Given the description of an element on the screen output the (x, y) to click on. 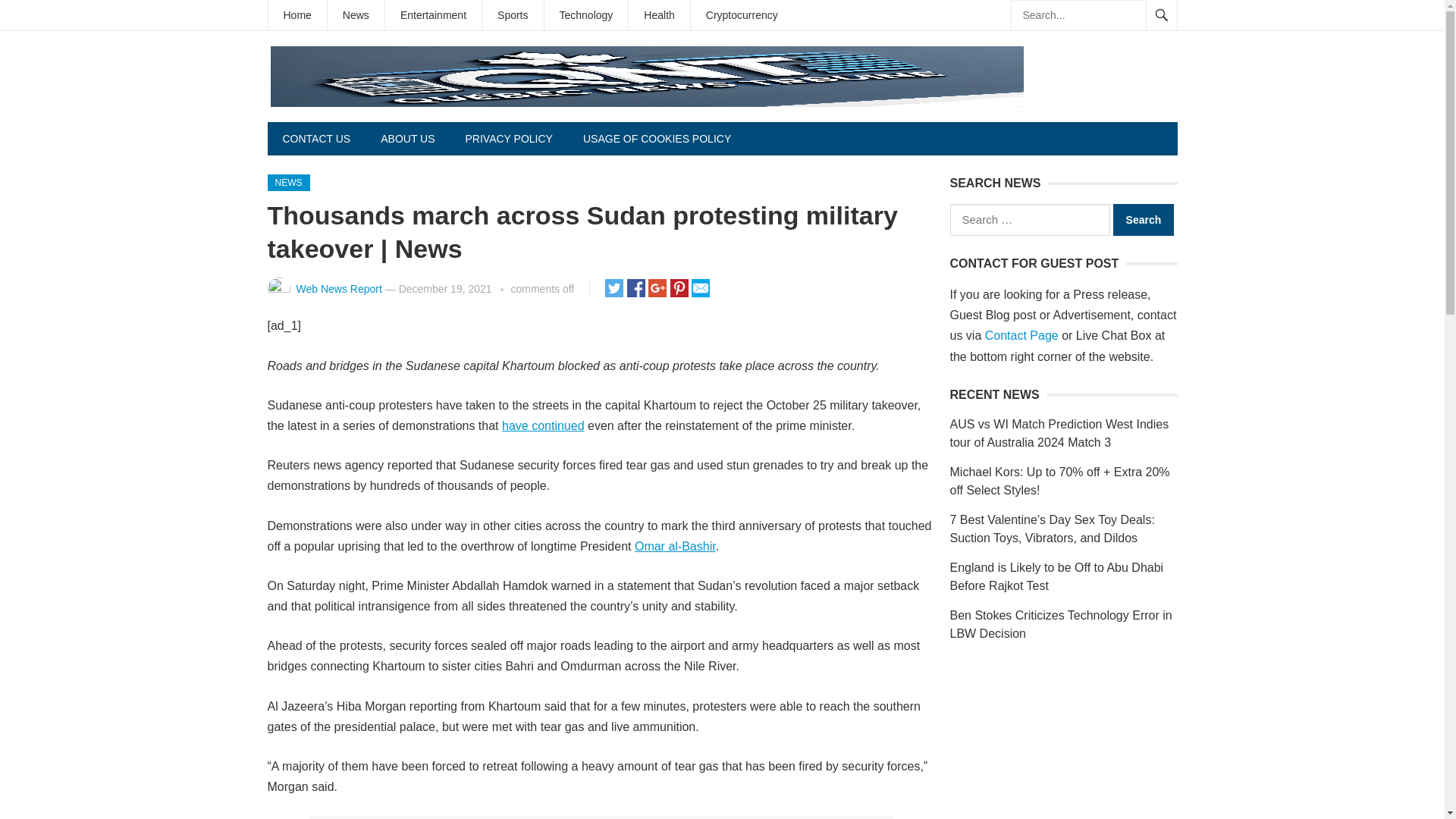
have continued (543, 425)
PRIVACY POLICY (508, 138)
Posts by Web News Report (338, 288)
Web News Report (338, 288)
Entertainment (433, 15)
Sports (512, 15)
Health (658, 15)
NEWS (287, 182)
News (355, 15)
Search (1143, 219)
